Given the description of an element on the screen output the (x, y) to click on. 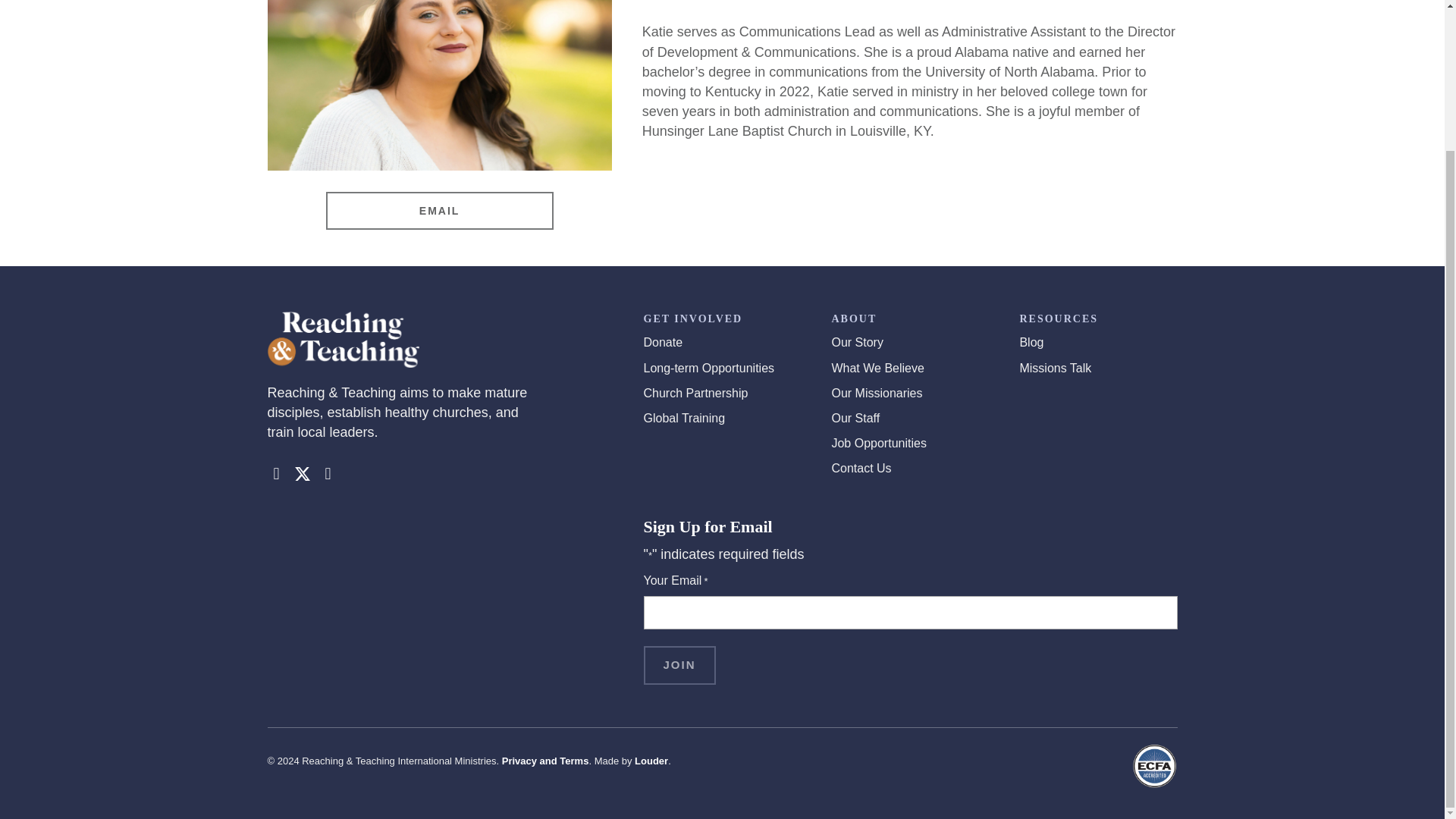
Instagram (327, 474)
footer-logo (342, 339)
ECFA-crop (1154, 765)
Join (678, 665)
Facebook (275, 474)
